Given the description of an element on the screen output the (x, y) to click on. 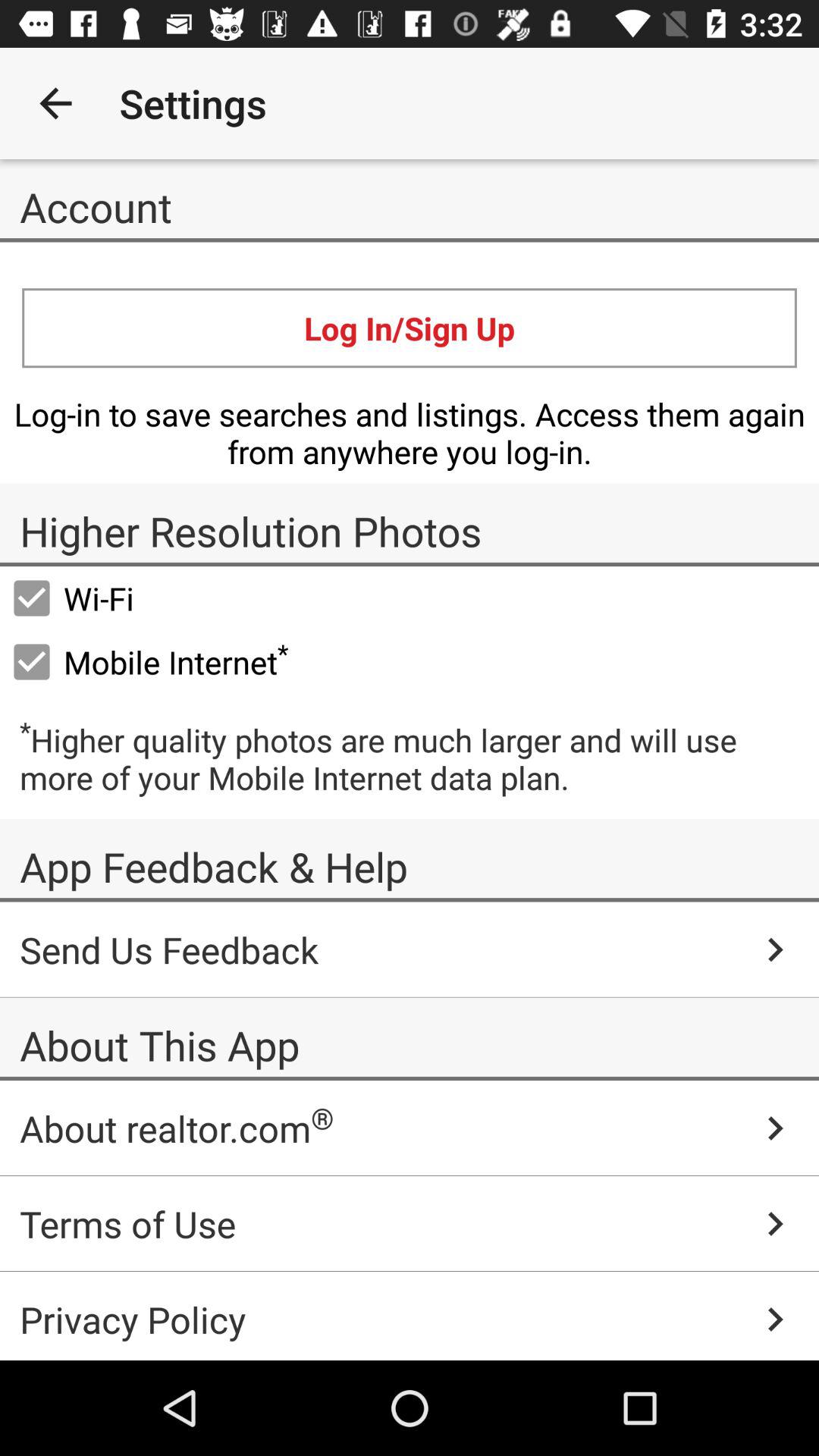
go to previous (55, 103)
